Given the description of an element on the screen output the (x, y) to click on. 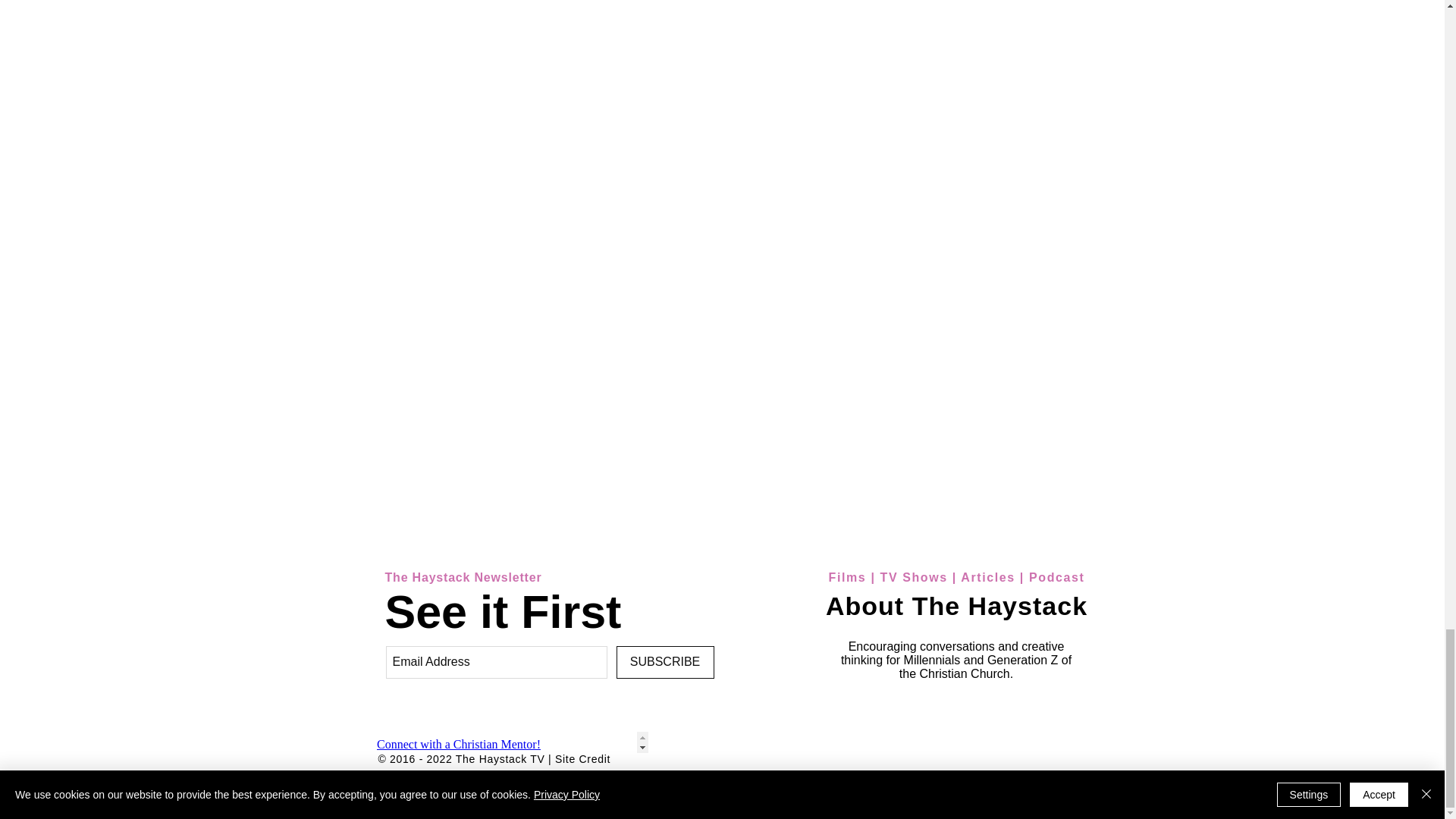
SUBSCRIBE (664, 662)
Site Credit (582, 758)
Embedded Content (508, 742)
